Given the description of an element on the screen output the (x, y) to click on. 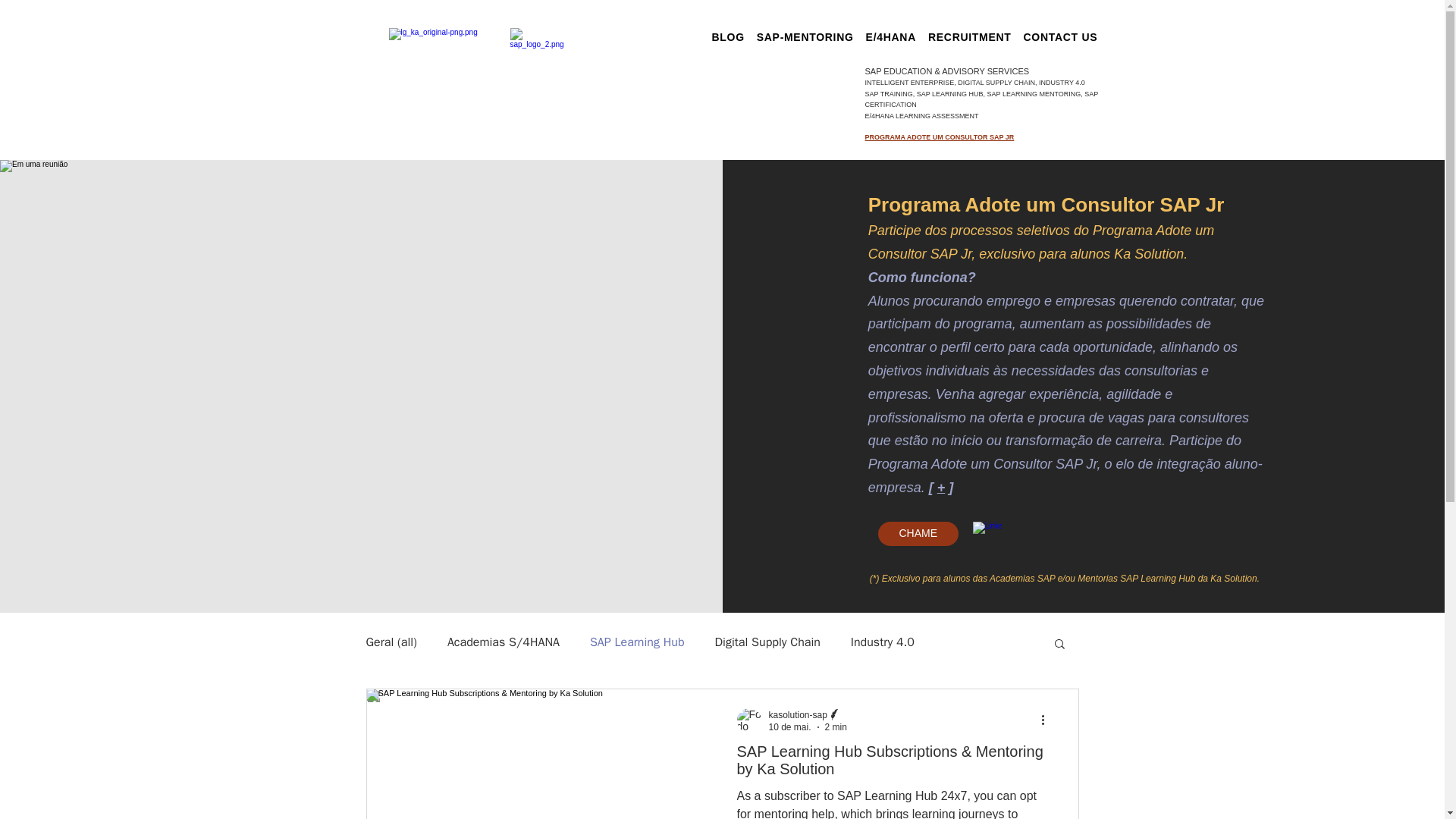
Digital Supply Chain (767, 642)
CHAME (917, 533)
10 de mai. (789, 726)
BLOG (726, 36)
Industry 4.0 (882, 642)
PROGRAMA ADOTE UM CONSULTOR SAP JR (938, 136)
kasolution-sap (797, 715)
CONTACT US (1060, 36)
SAP Learning Hub (636, 642)
2 min (836, 726)
